Given the description of an element on the screen output the (x, y) to click on. 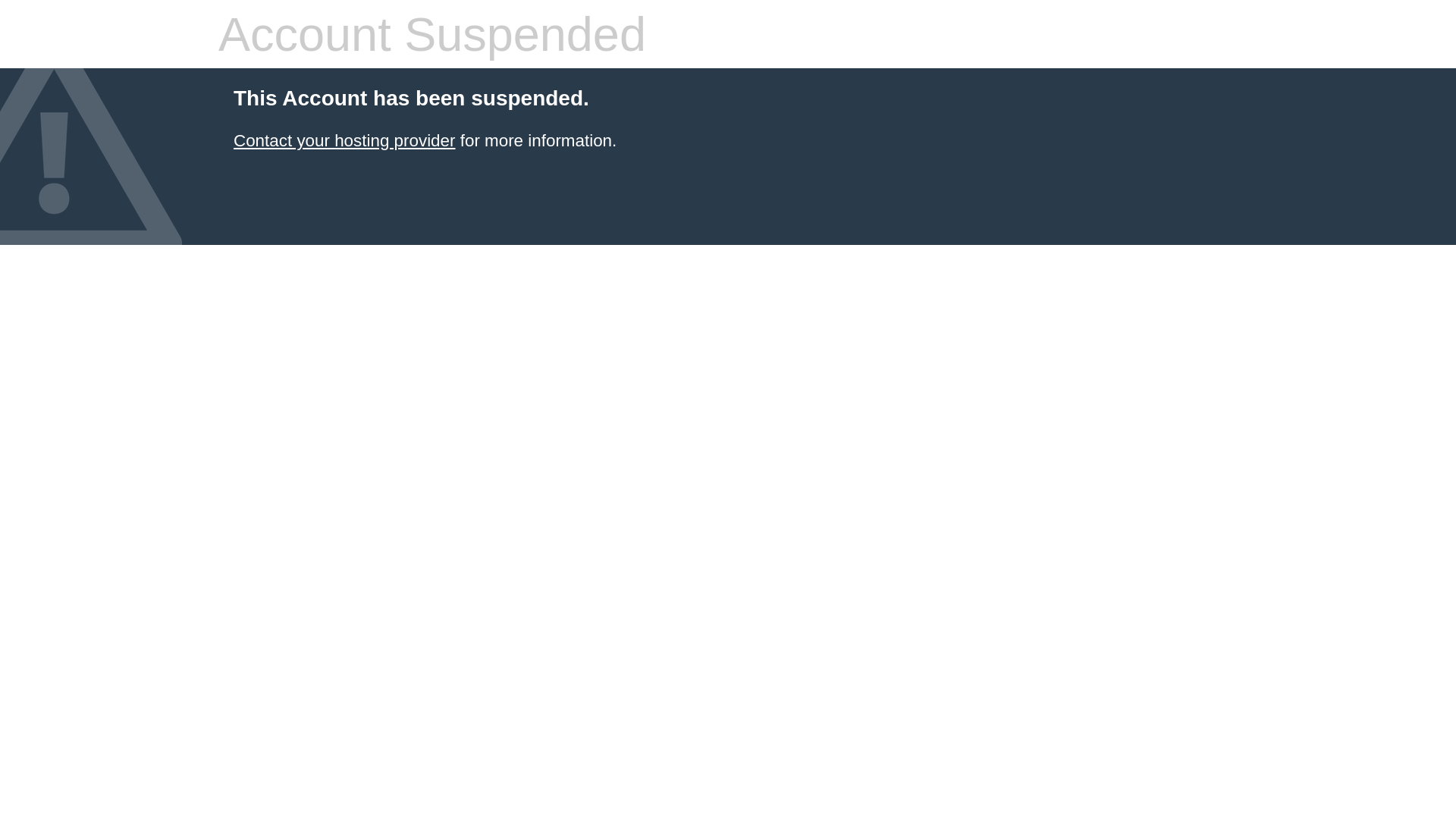
Contact your hosting provider Element type: text (344, 140)
